Given the description of an element on the screen output the (x, y) to click on. 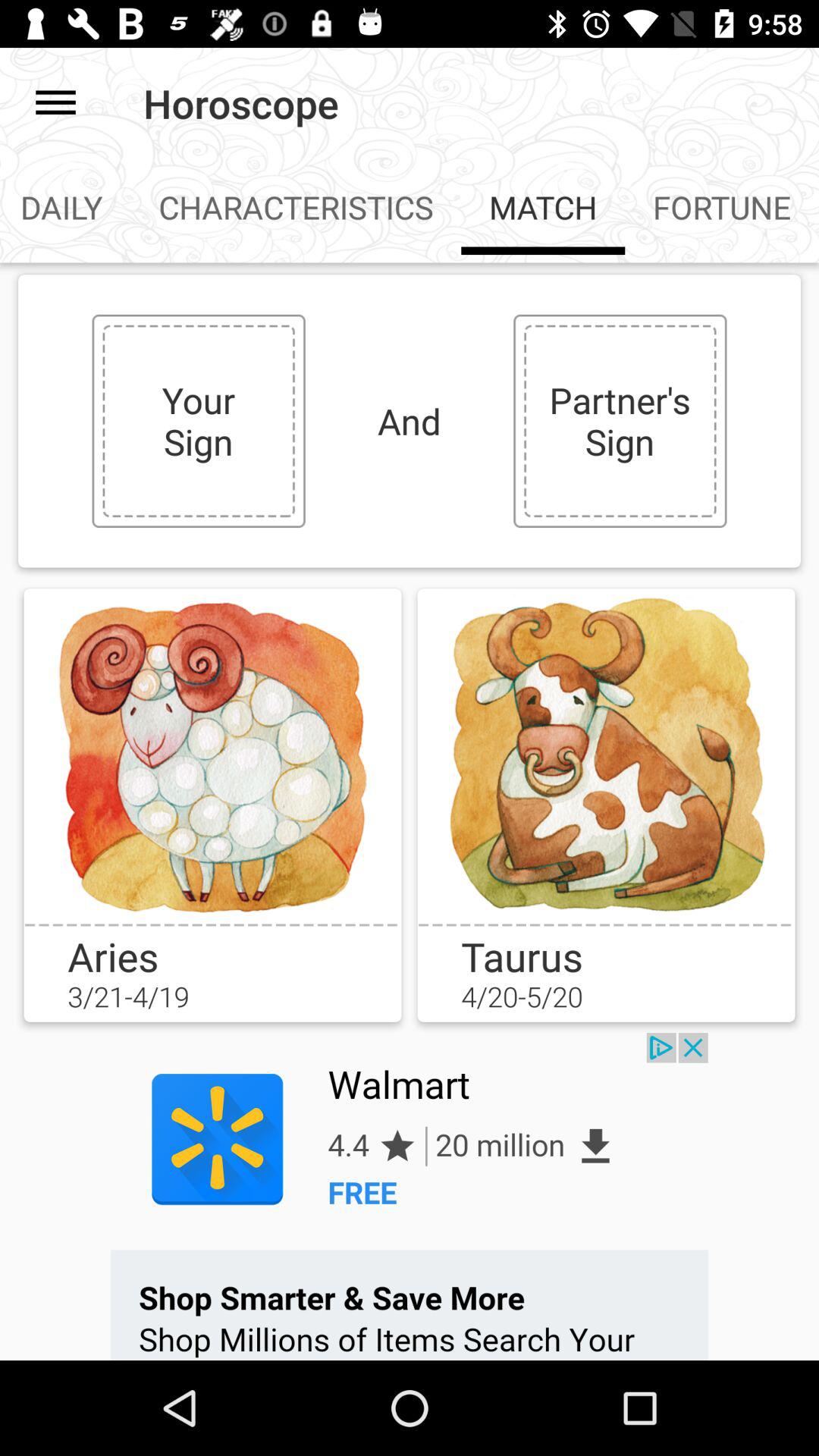
go to taurus horoscope (606, 755)
